Given the description of an element on the screen output the (x, y) to click on. 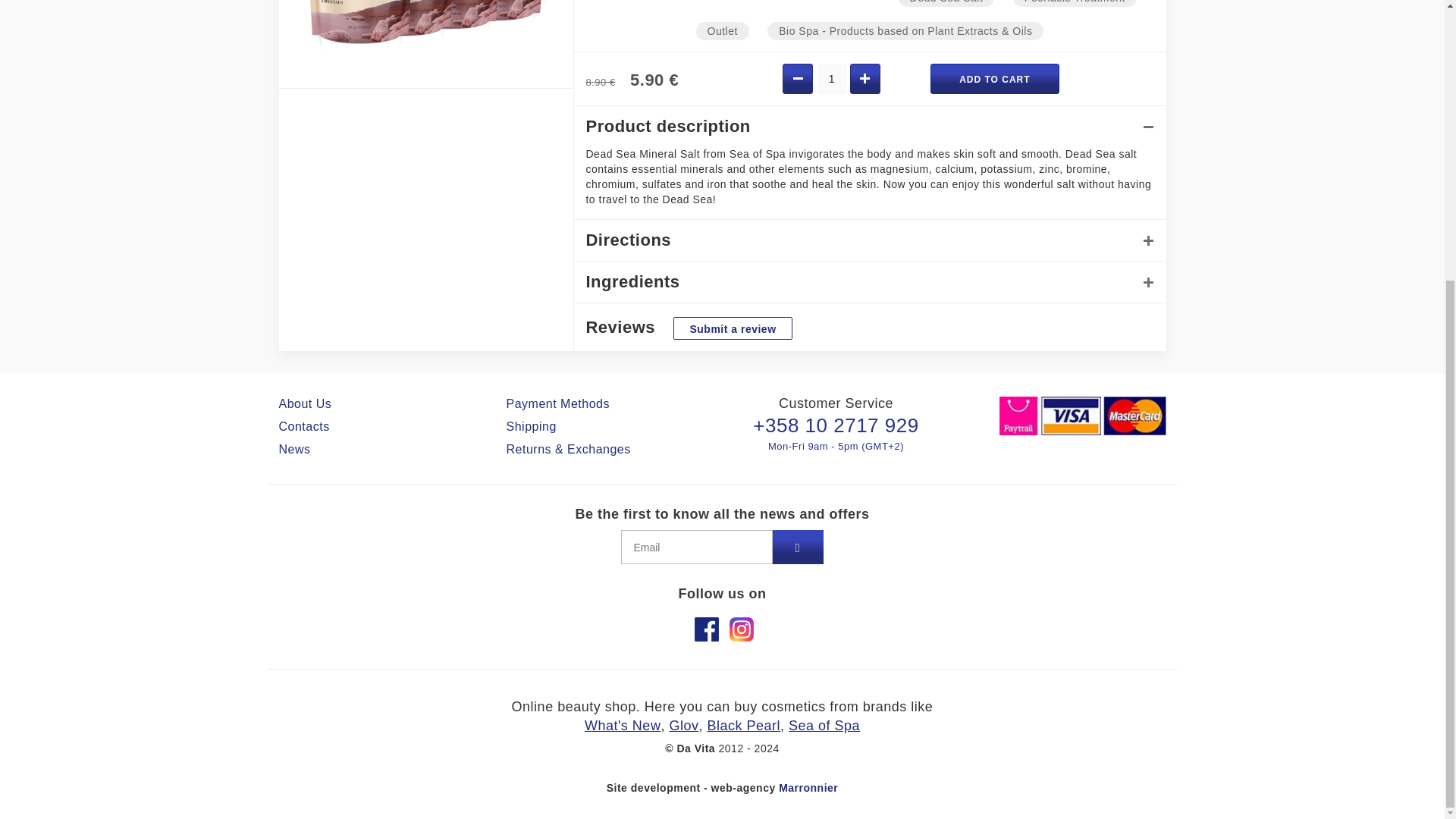
1 (831, 78)
